Given the description of an element on the screen output the (x, y) to click on. 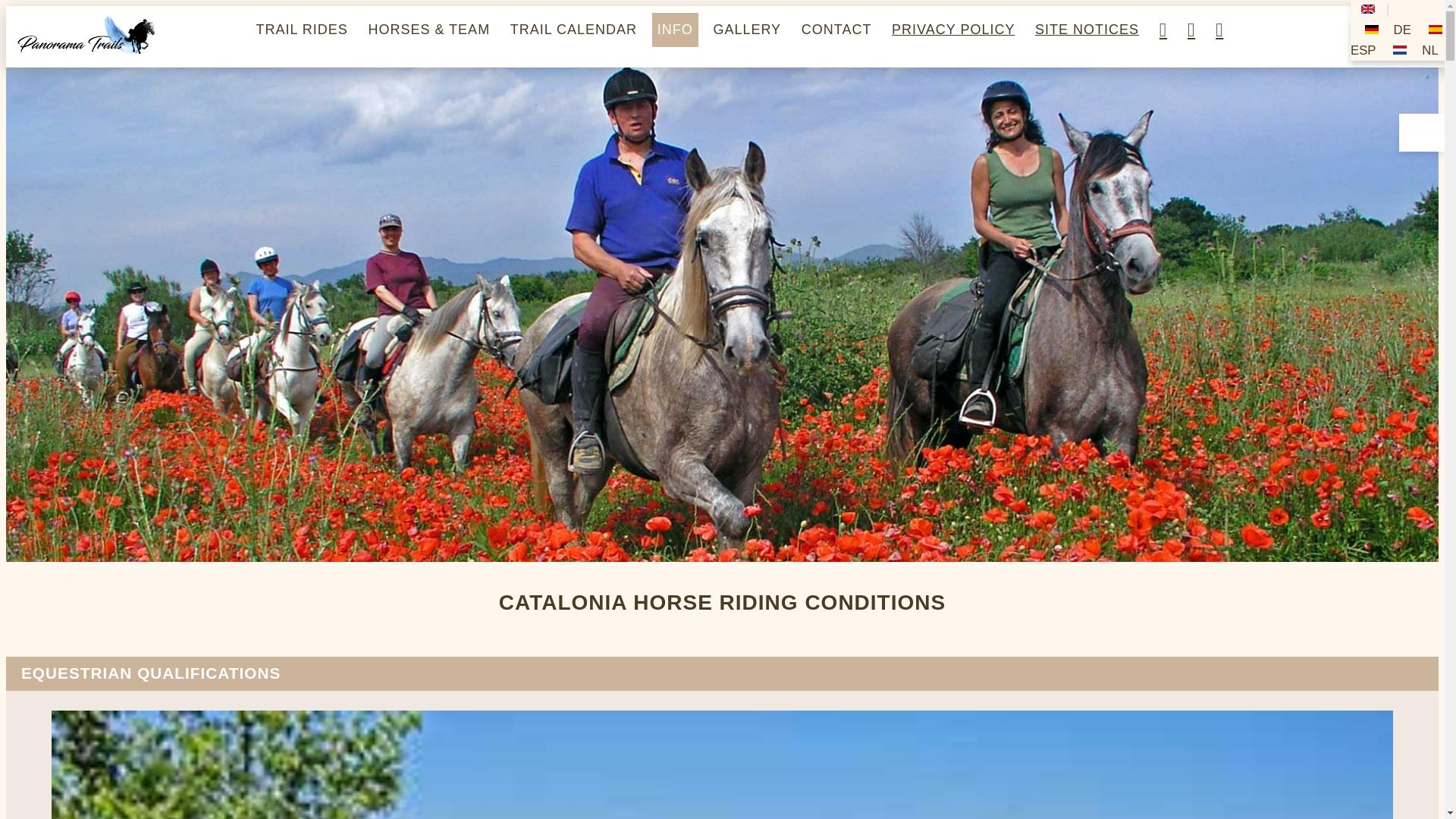
GBR (1367, 8)
NL (1399, 49)
DE (1371, 29)
